Given the description of an element on the screen output the (x, y) to click on. 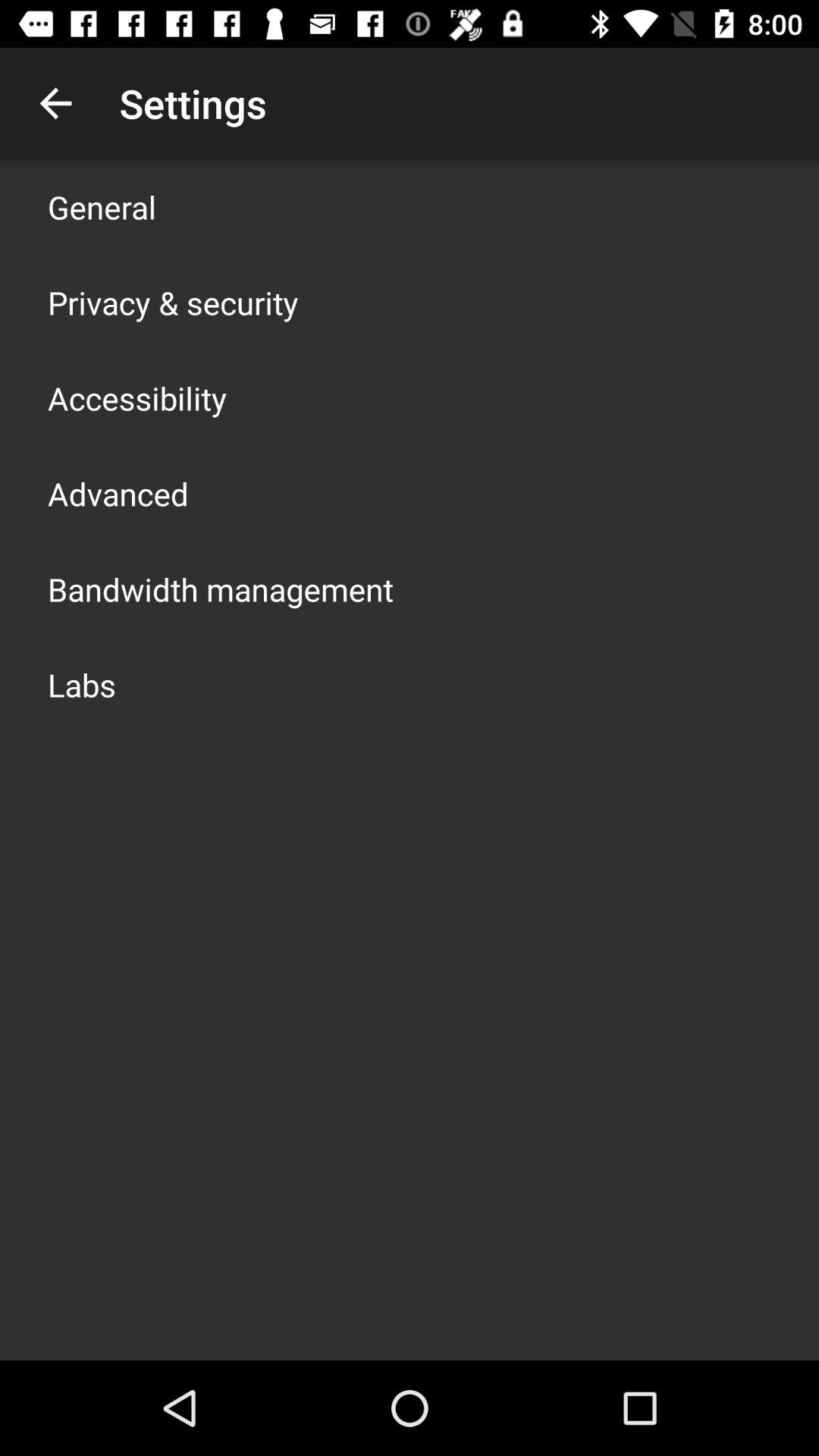
press app above the accessibility app (172, 302)
